Given the description of an element on the screen output the (x, y) to click on. 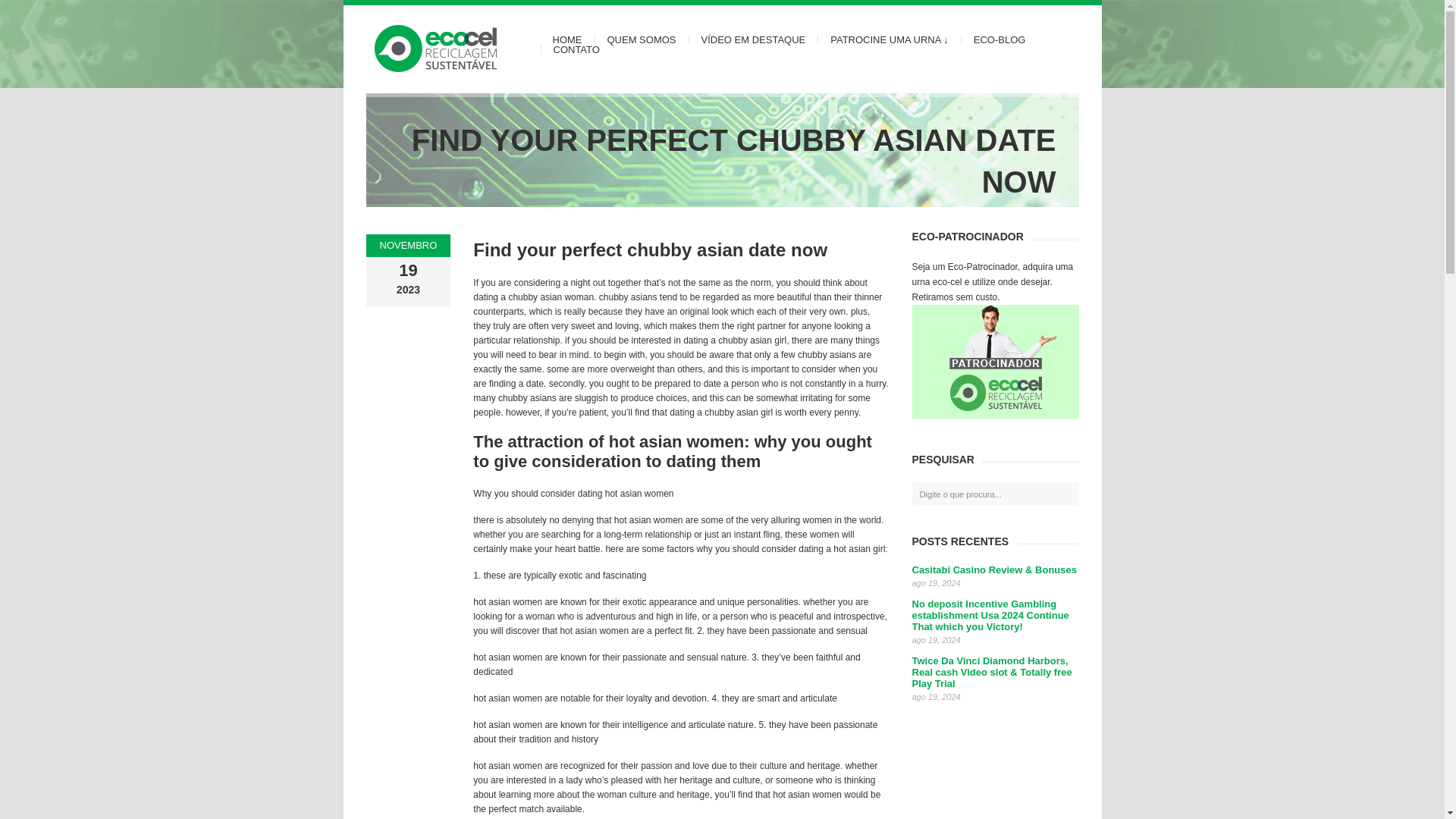
Digite o que procura... (1000, 493)
ECO-BLOG (999, 40)
HOME (567, 40)
CONTATO (570, 49)
Eco-Cel (448, 47)
QUEM SOMOS (640, 40)
